Given the description of an element on the screen output the (x, y) to click on. 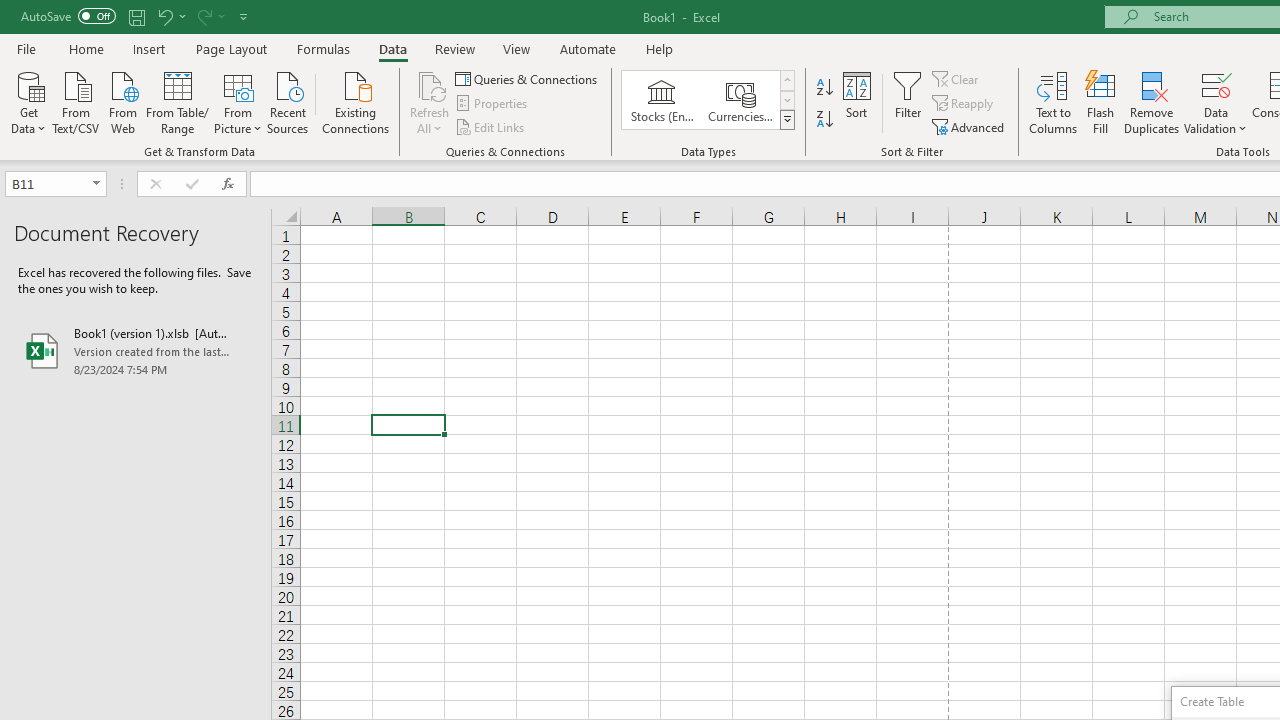
Sort... (856, 102)
Recent Sources (287, 101)
Properties (492, 103)
Remove Duplicates (1151, 102)
Currencies (English) (740, 100)
Clear (957, 78)
From Picture (238, 101)
Queries & Connections (527, 78)
Filter (908, 102)
Sort Z to A (824, 119)
